Given the description of an element on the screen output the (x, y) to click on. 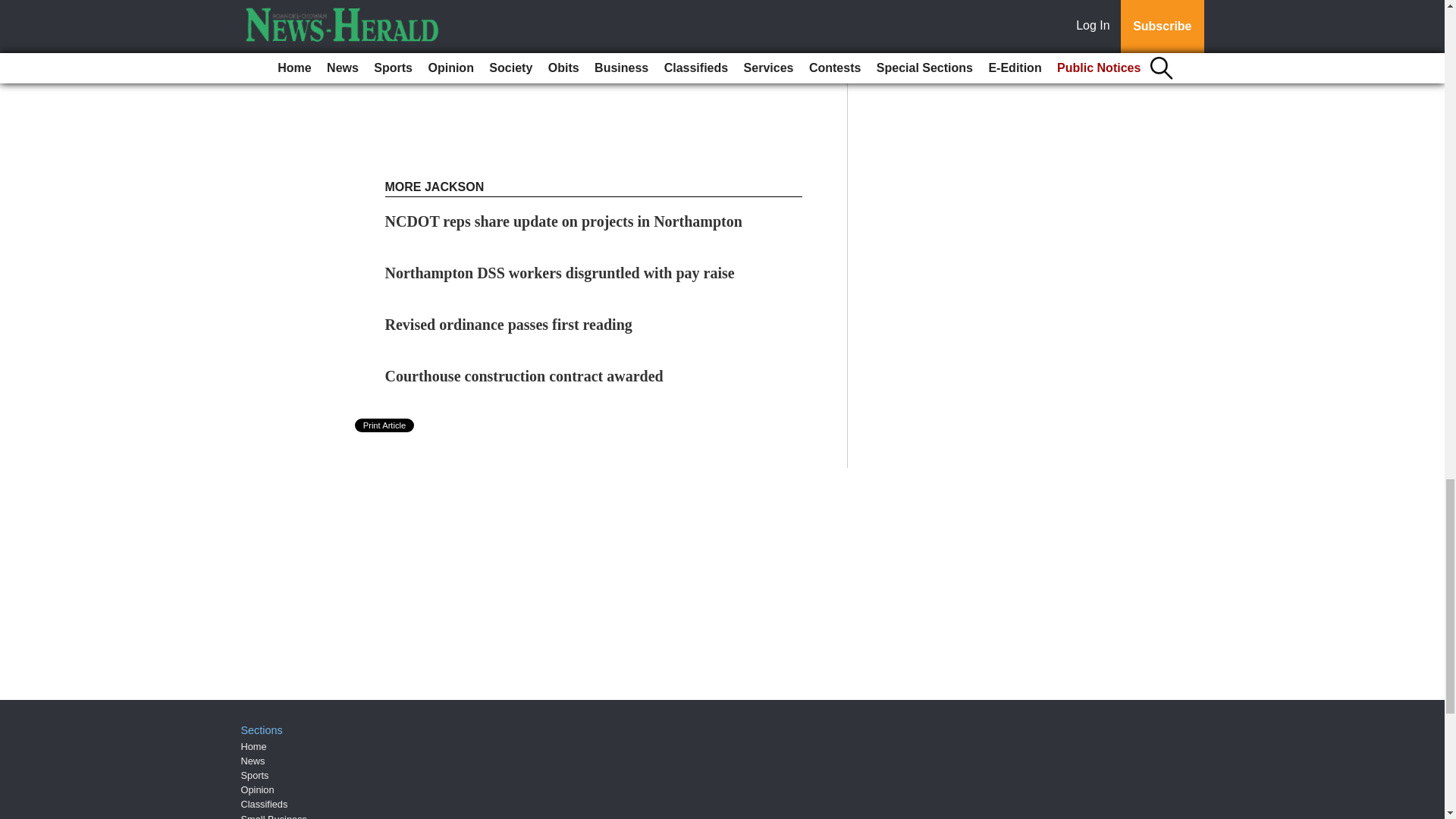
Courthouse construction contract awarded (524, 375)
NCDOT reps share update on projects in Northampton (563, 221)
NCDOT reps share update on projects in Northampton (563, 221)
Revised ordinance passes first reading (508, 324)
Northampton DSS workers disgruntled with pay raise (560, 272)
Revised ordinance passes first reading (508, 324)
Courthouse construction contract awarded (524, 375)
Northampton DSS workers disgruntled with pay raise (560, 272)
Print Article (384, 425)
